Given the description of an element on the screen output the (x, y) to click on. 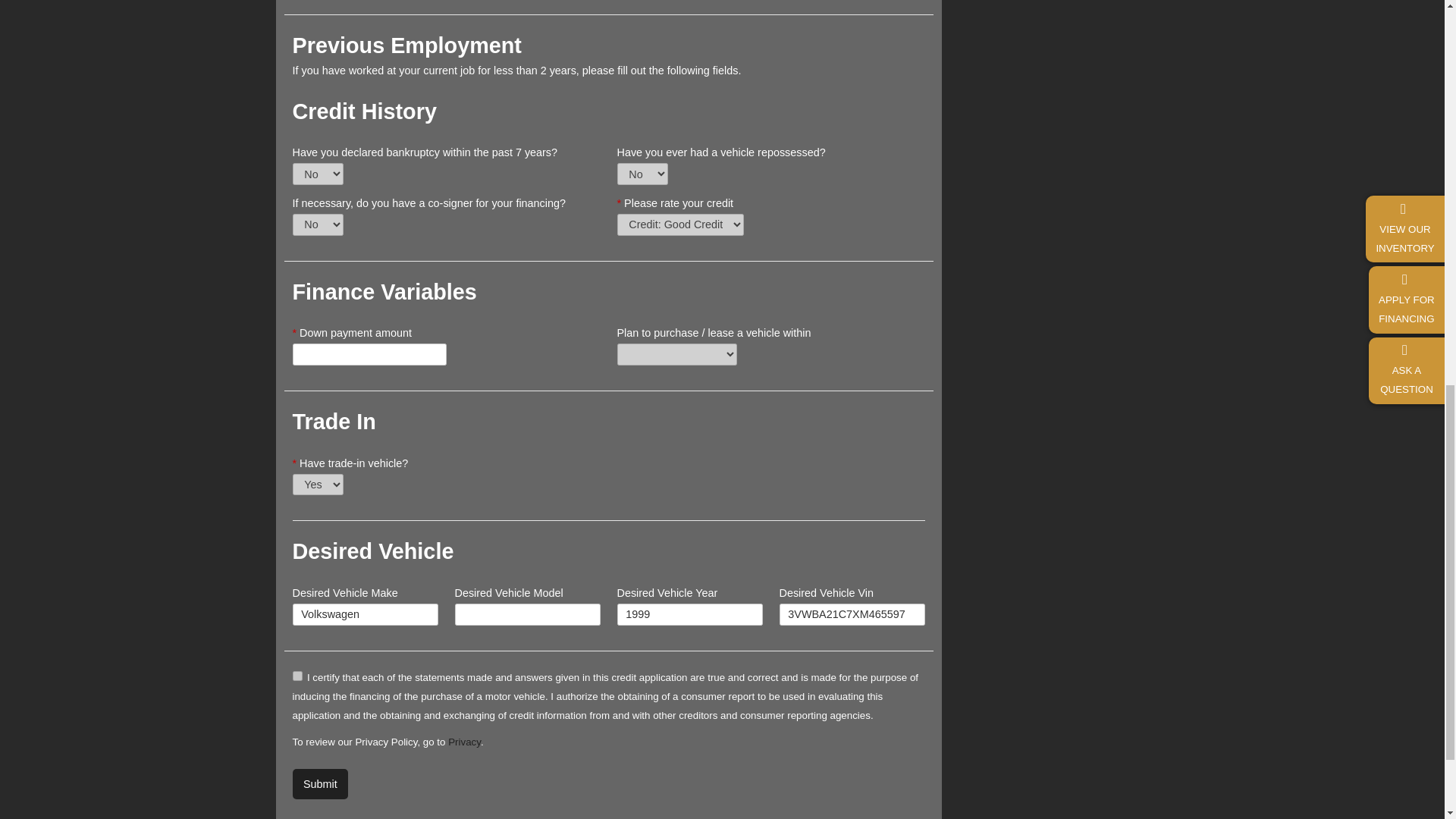
Privacy (464, 741)
Submit (320, 783)
